Given the description of an element on the screen output the (x, y) to click on. 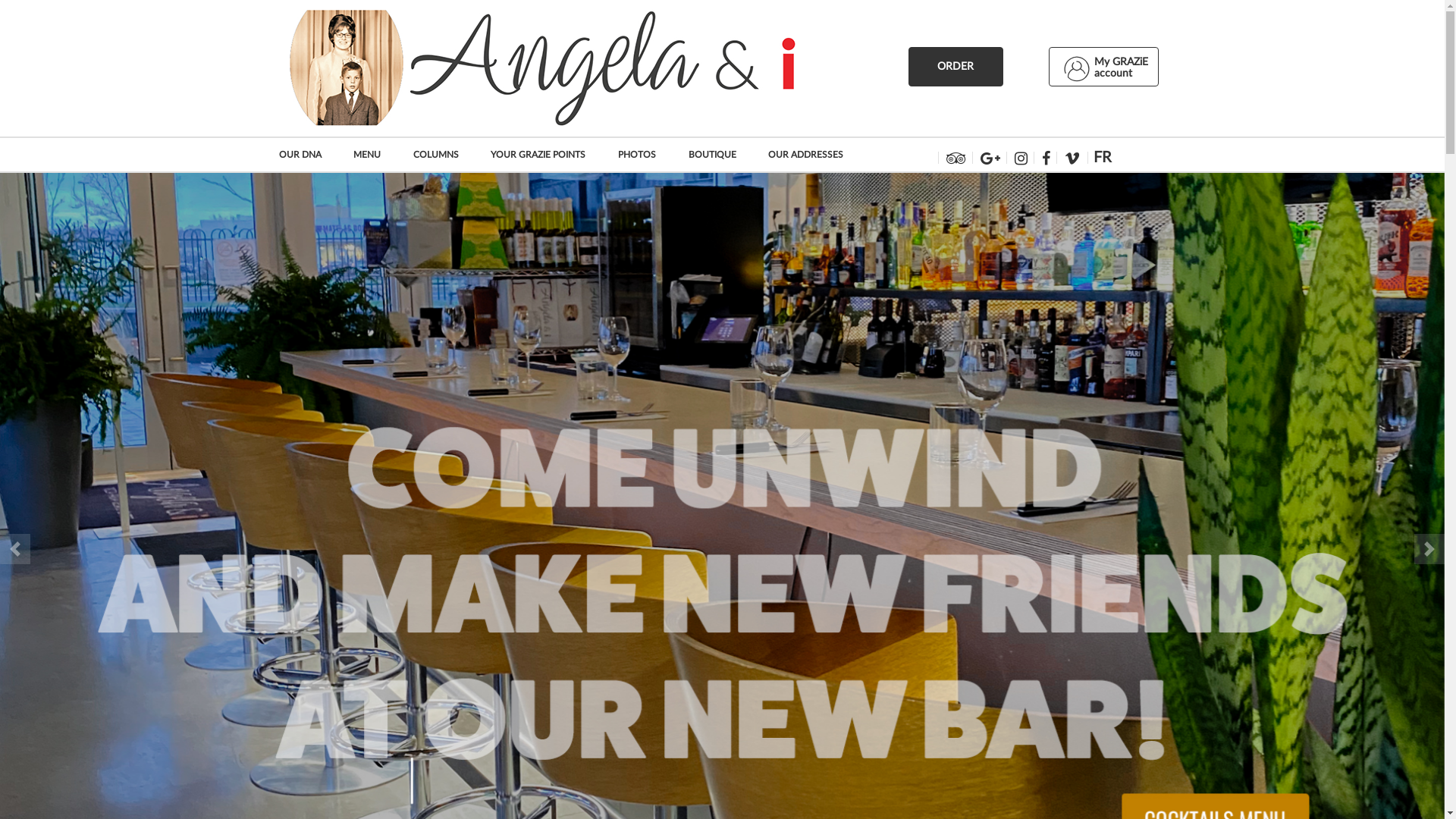
COLUMNS Element type: text (443, 154)
OUR ADDRESSES Element type: text (813, 154)
Next Element type: text (1429, 548)
BOUTIQUE Element type: text (719, 154)
MENU Element type: text (374, 154)
FR Element type: text (1102, 157)
My GRAZiE
account Element type: text (1102, 66)
OUR DNA Element type: text (307, 154)
YOUR GRAZIE POINTS Element type: text (545, 154)
Previous Element type: text (15, 548)
ORDER Element type: text (955, 66)
PHOTOS Element type: text (644, 154)
